Given the description of an element on the screen output the (x, y) to click on. 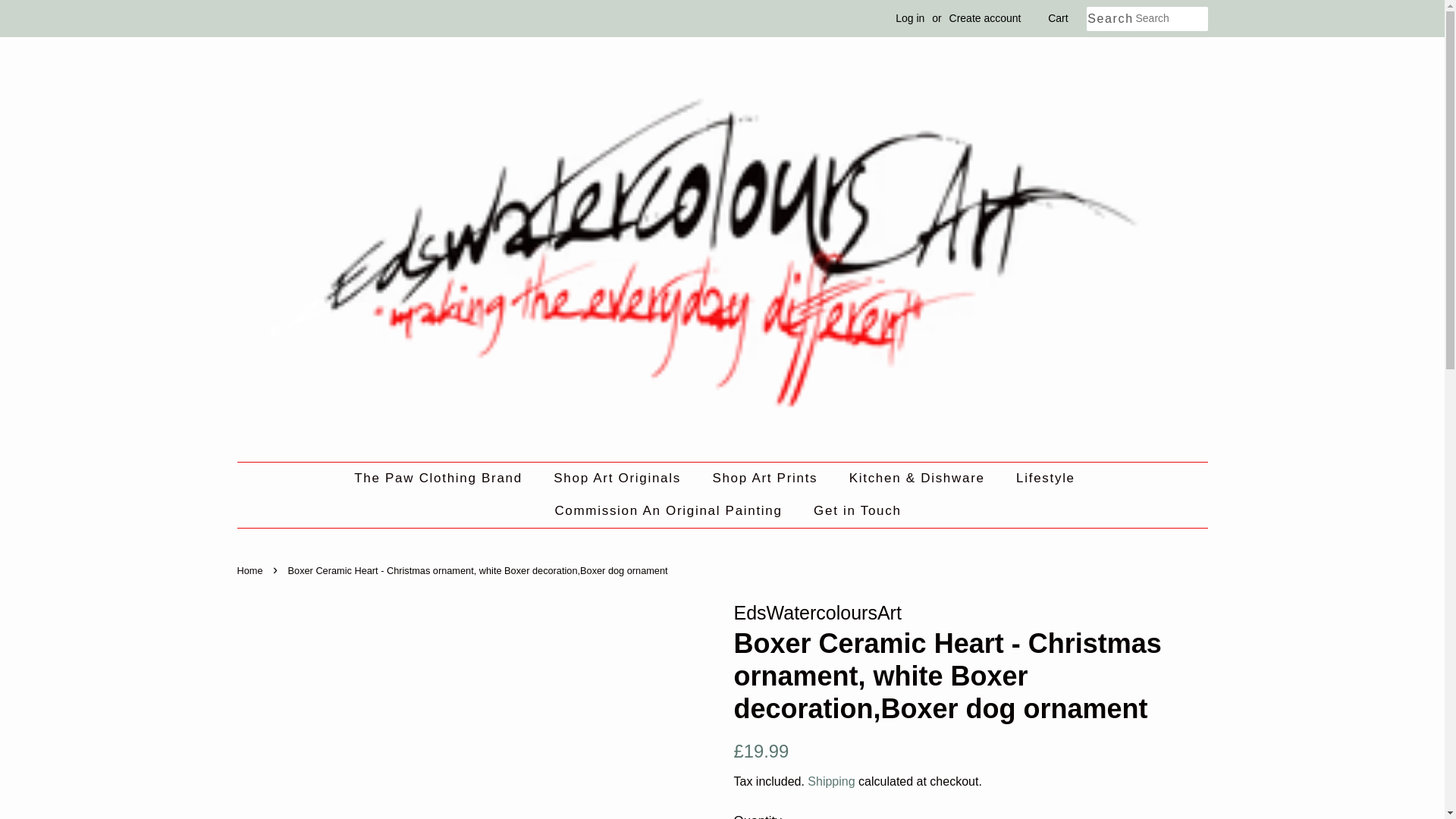
Create account (985, 18)
Log in (909, 18)
Cart (1057, 18)
Search (1110, 18)
Back to the frontpage (250, 570)
